Given the description of an element on the screen output the (x, y) to click on. 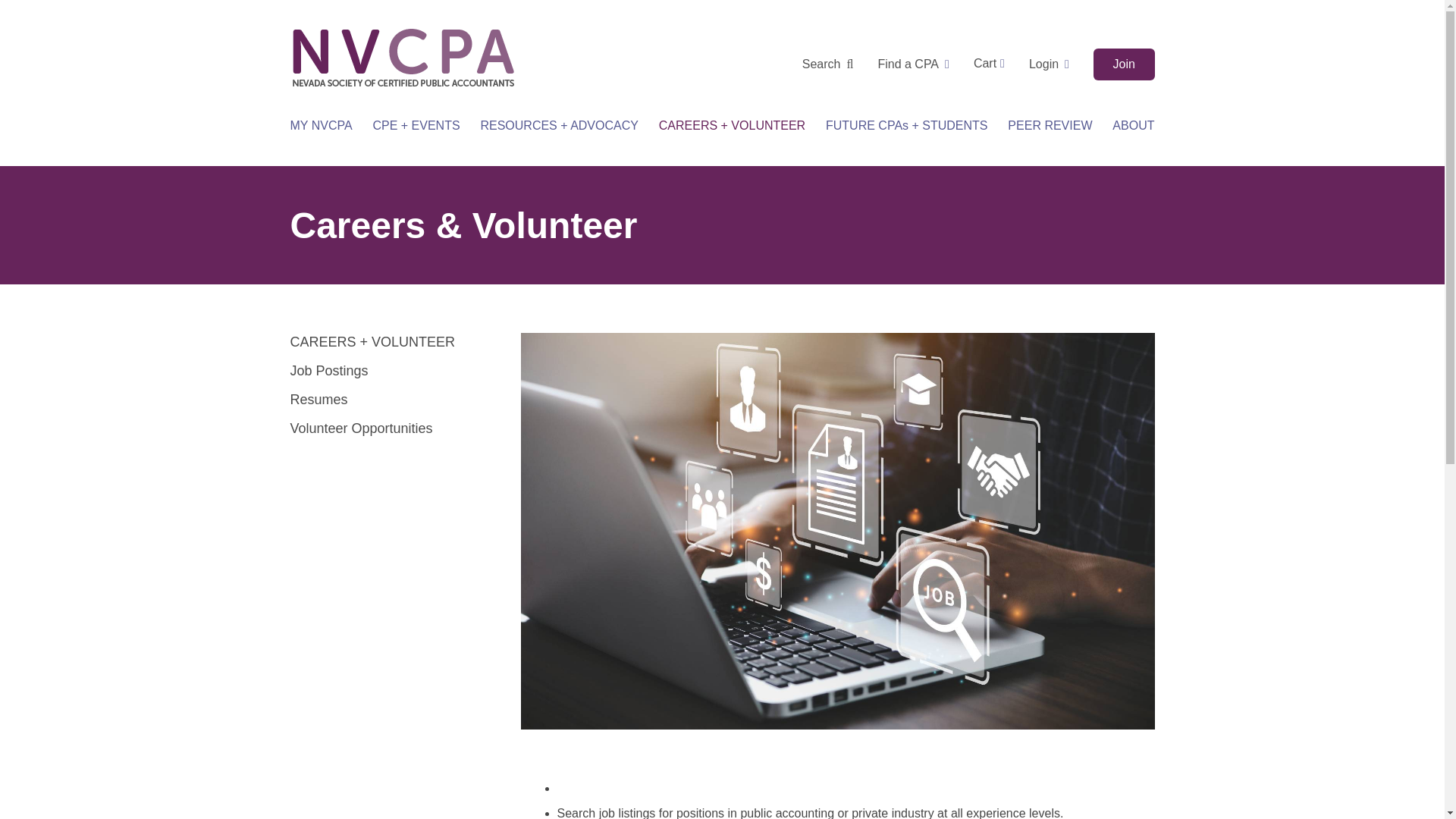
Cart (989, 63)
Search (827, 64)
Join (1123, 64)
Find a CPA (913, 64)
Login (1048, 64)
MY NVCPA (320, 125)
